Given the description of an element on the screen output the (x, y) to click on. 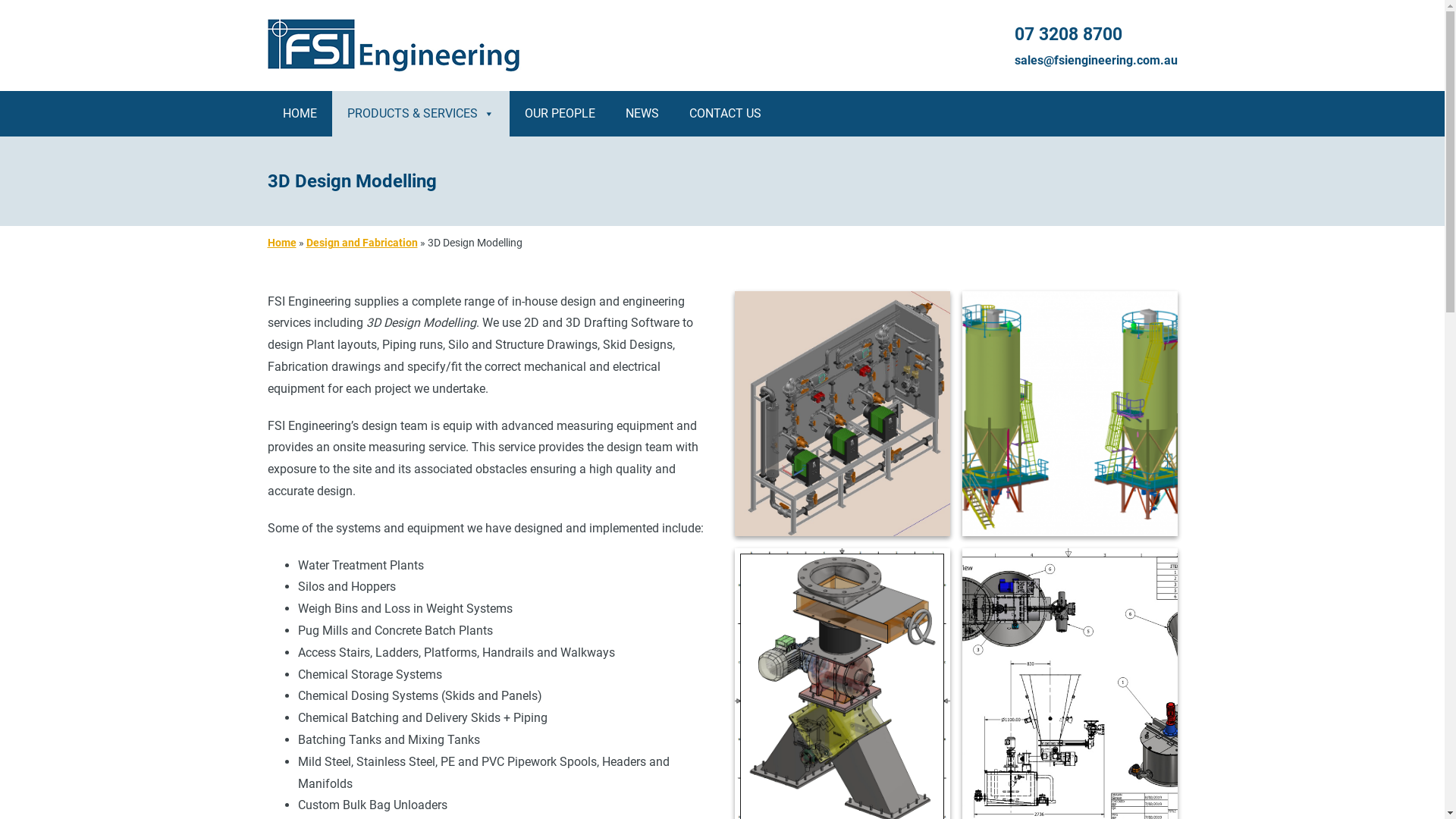
Home Element type: text (280, 242)
sales@fsiengineering.com.au Element type: text (1095, 60)
OUR PEOPLE Element type: text (559, 113)
PRODUCTS & SERVICES Element type: text (420, 113)
HOME Element type: text (298, 113)
CONTACT US Element type: text (724, 113)
Design and Fabrication Element type: text (361, 242)
07 3208 8700 Element type: text (1068, 34)
NEWS Element type: text (641, 113)
